Given the description of an element on the screen output the (x, y) to click on. 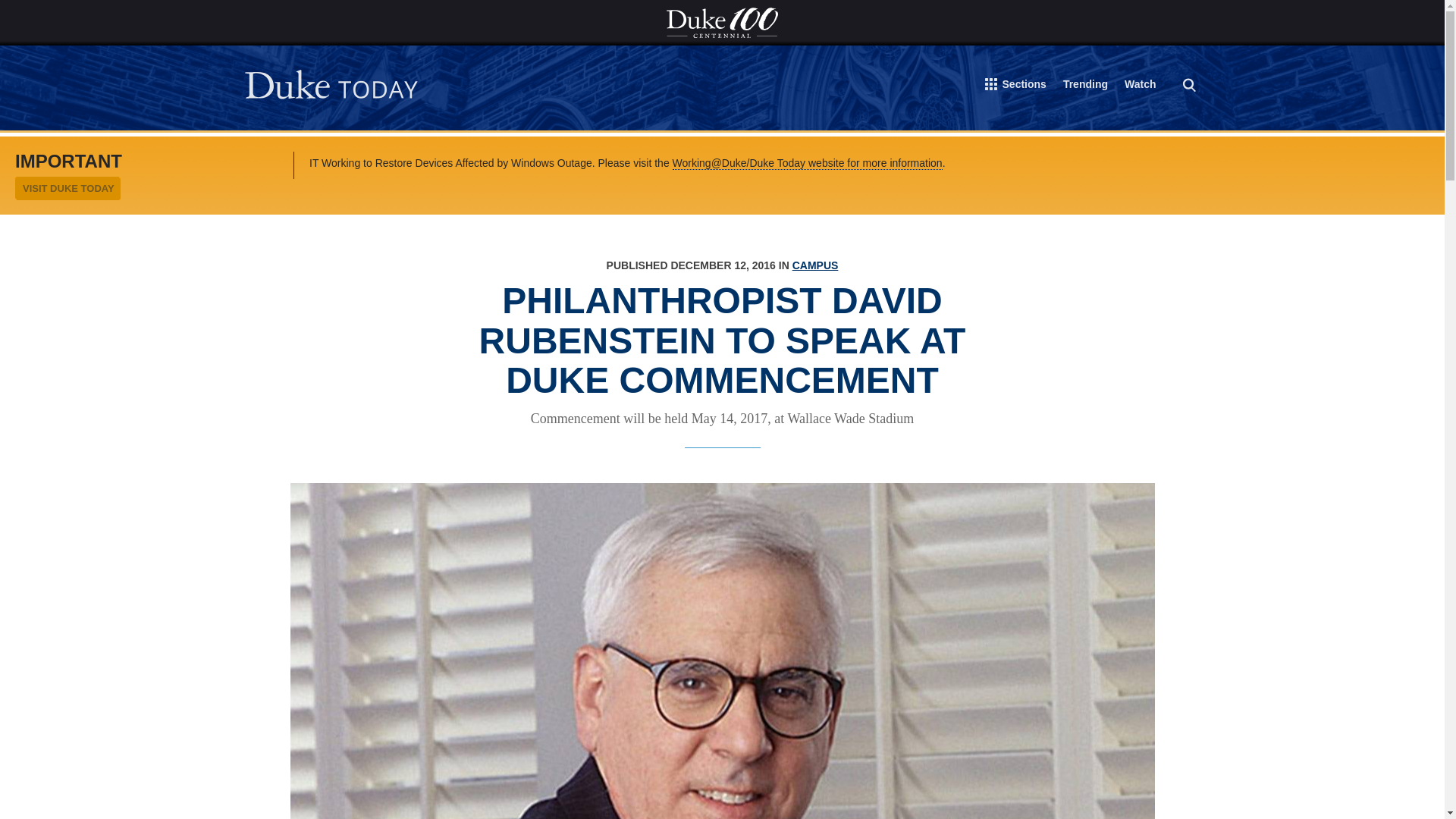
Sections (1015, 87)
Watch (1140, 86)
Trending (1085, 86)
